Given the description of an element on the screen output the (x, y) to click on. 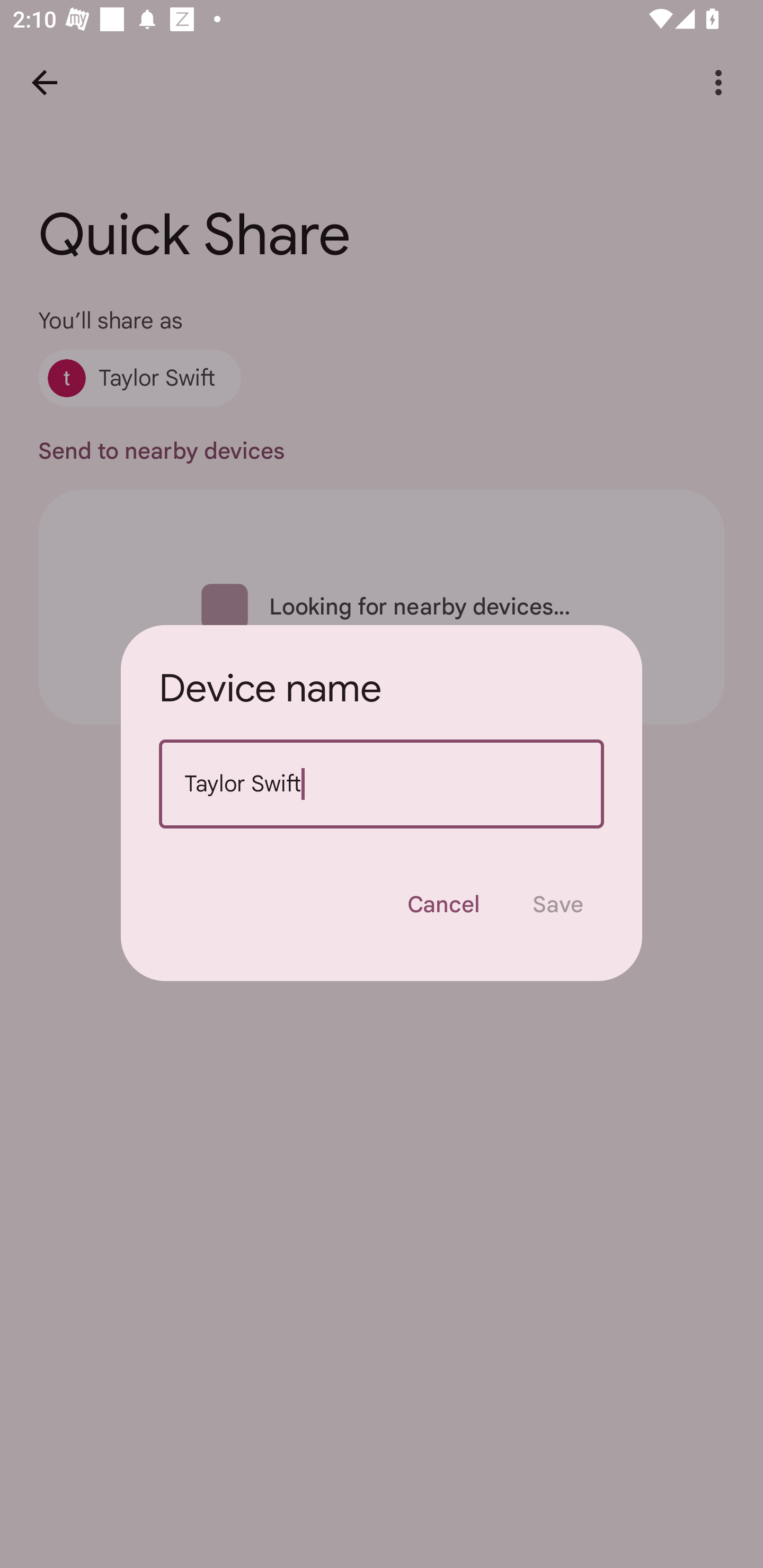
Taylor Swift Device name (381, 783)
Cancel (443, 904)
Save (557, 904)
